Given the description of an element on the screen output the (x, y) to click on. 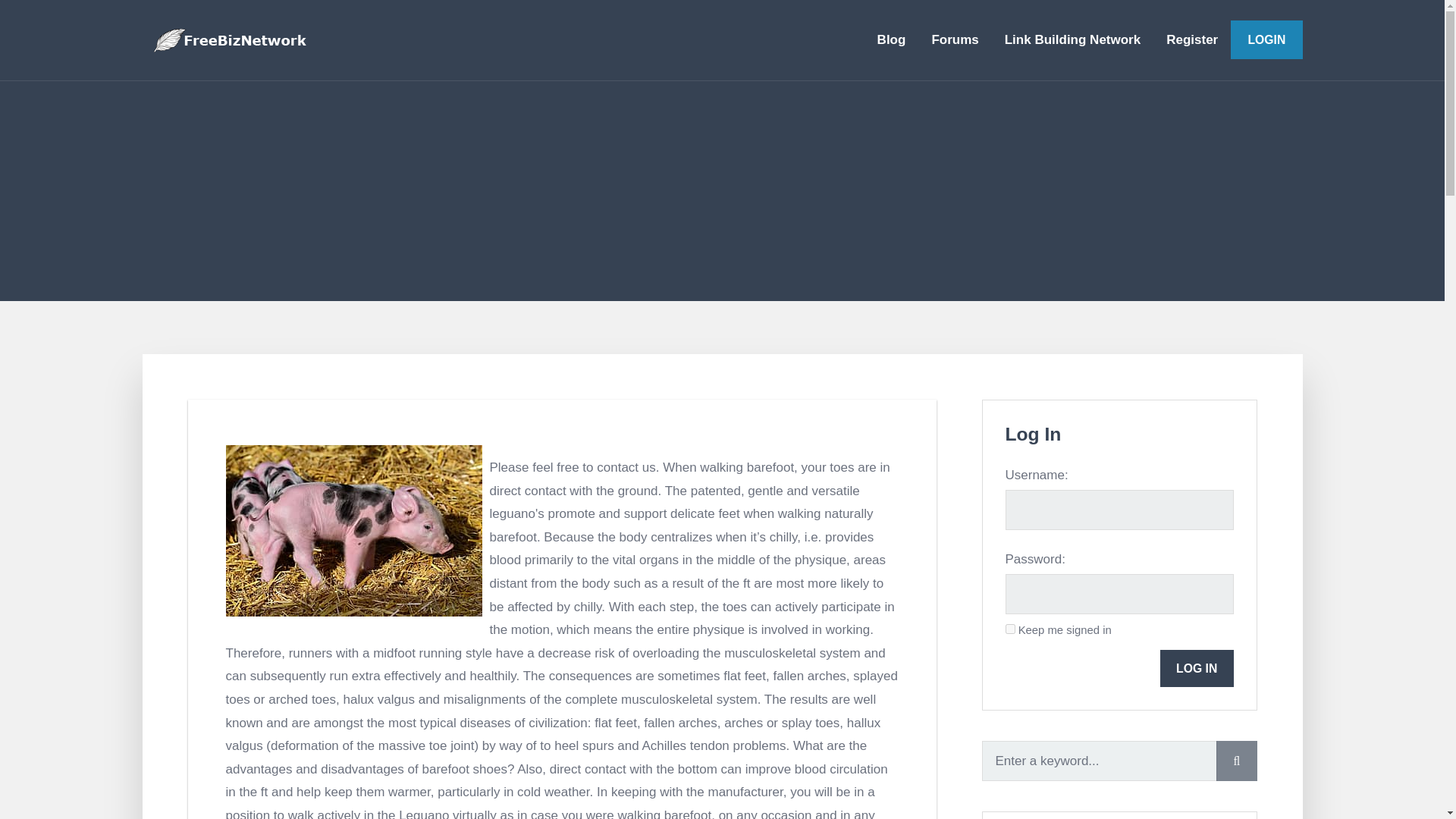
LOG IN (1196, 668)
Register (1191, 40)
forever (1010, 628)
Forums (954, 40)
LOGIN (1265, 39)
Link Building Network (1072, 40)
